Given the description of an element on the screen output the (x, y) to click on. 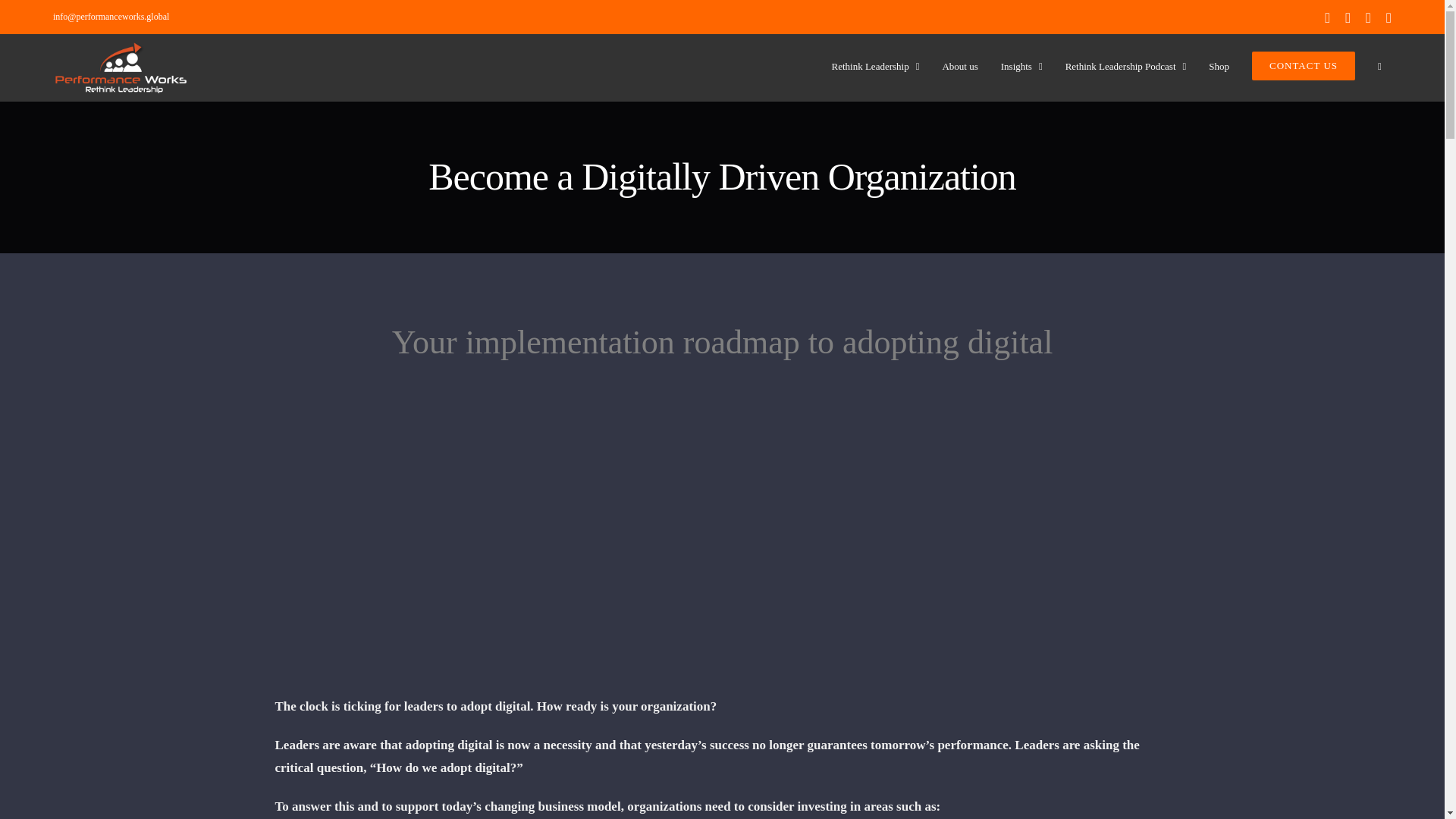
Rethink Leadership Podcast (1125, 65)
CONTACT US (1303, 65)
Rethink Leadership (875, 65)
